Given the description of an element on the screen output the (x, y) to click on. 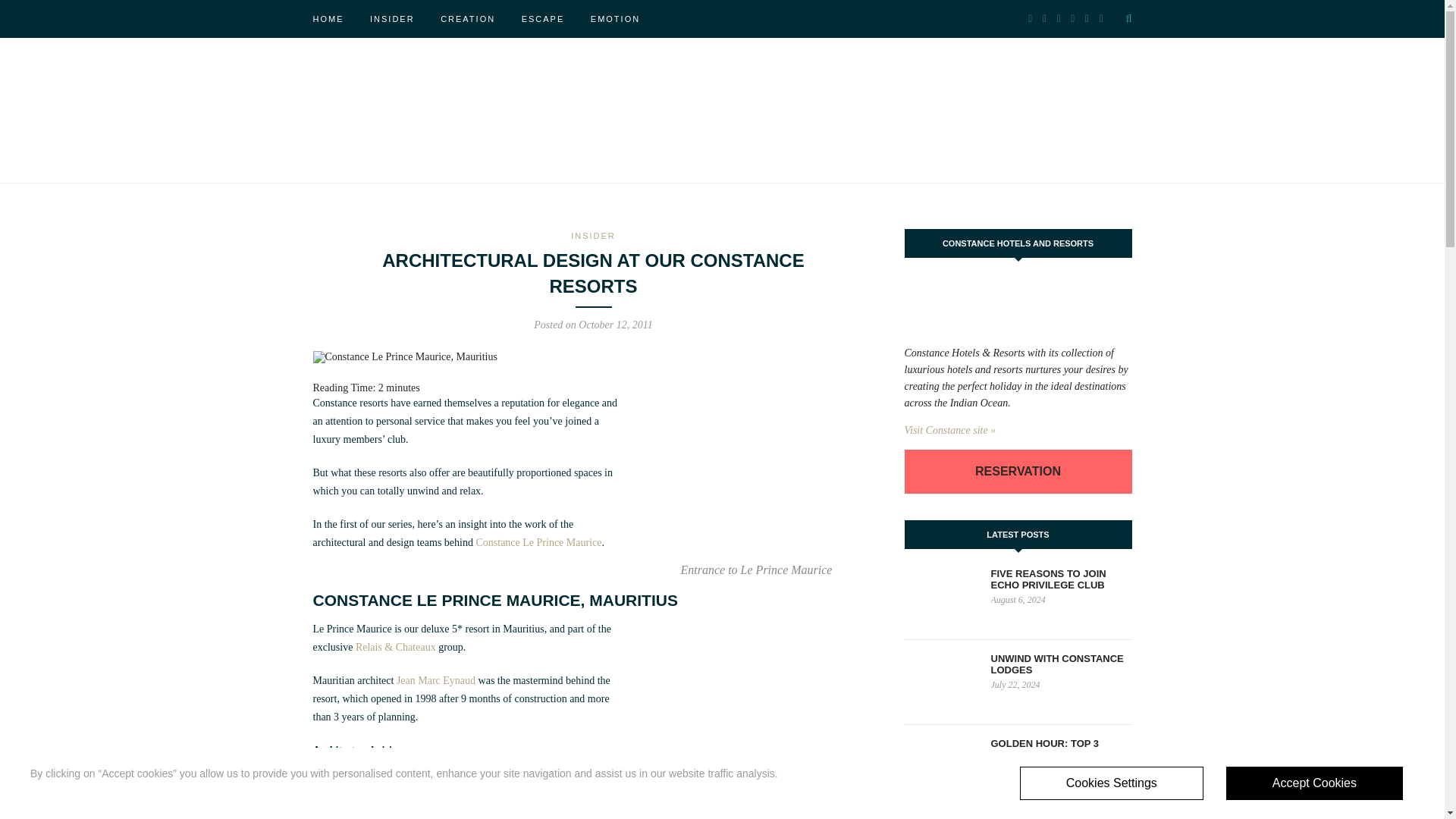
Constance Le Prince Maurice (538, 542)
INSIDER (592, 235)
INSIDER (391, 18)
Cookies Settings (1112, 783)
Entrance to Constance Le Prince Maurice, Mauritius (756, 476)
ESCAPE (542, 18)
Jean Marc Eynaud (436, 680)
Constance Le Prince Maurice (538, 542)
CREATION (468, 18)
EMOTION (615, 18)
